Given the description of an element on the screen output the (x, y) to click on. 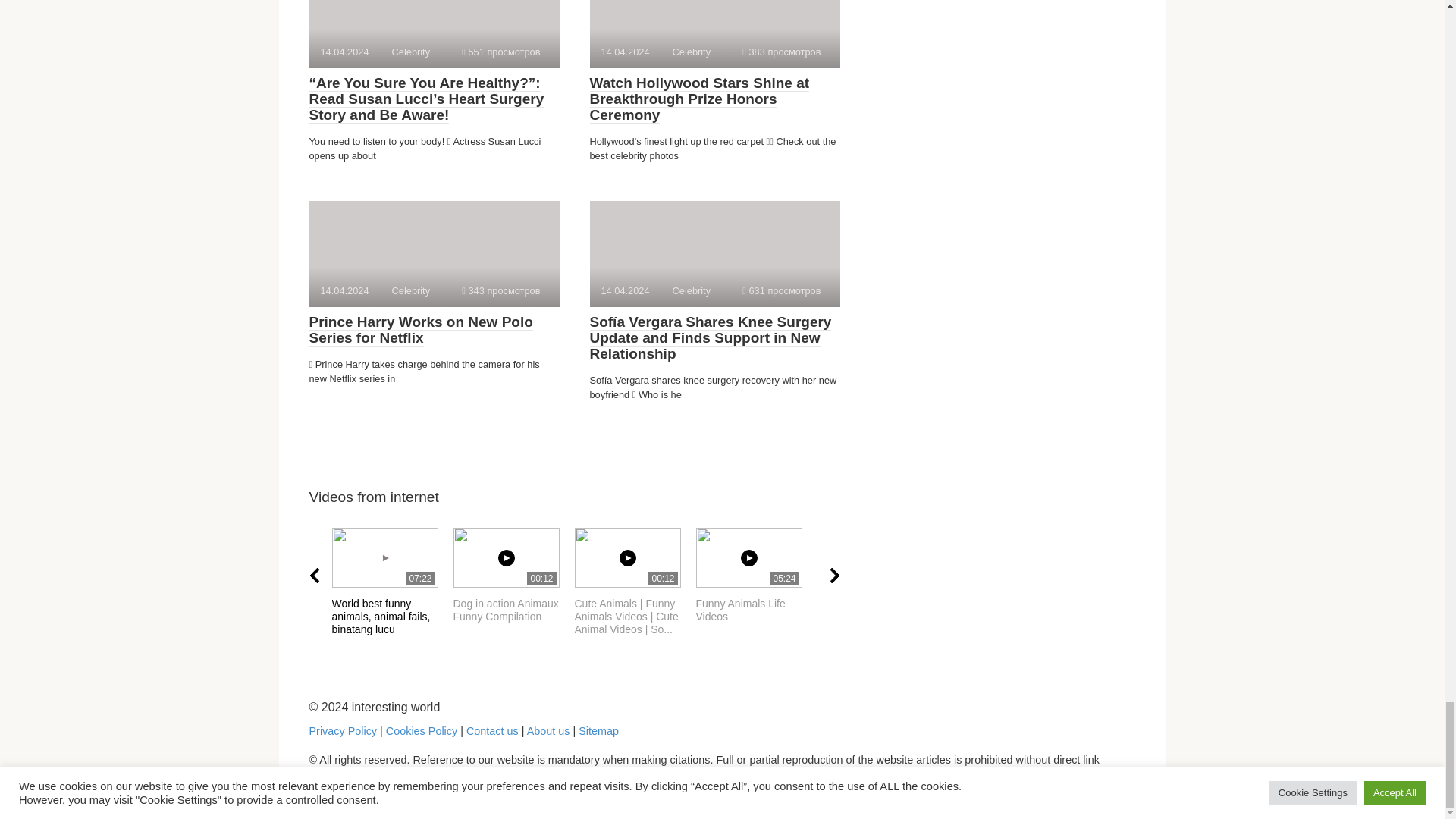
Cookies Policy (421, 730)
Views (755, 575)
Views (500, 290)
Views (781, 51)
Sitemap (500, 51)
Contact us (598, 730)
Prince Harry Works on New Polo Series for Netflix (491, 730)
Privacy Policy (420, 329)
Views (391, 575)
About us (513, 575)
